Given the description of an element on the screen output the (x, y) to click on. 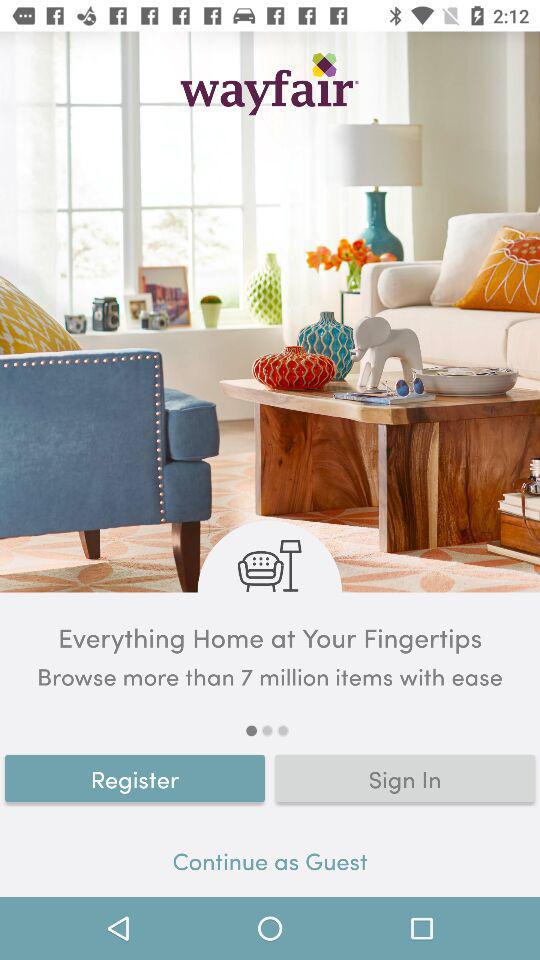
turn on the icon to the left of the sign in item (135, 778)
